Given the description of an element on the screen output the (x, y) to click on. 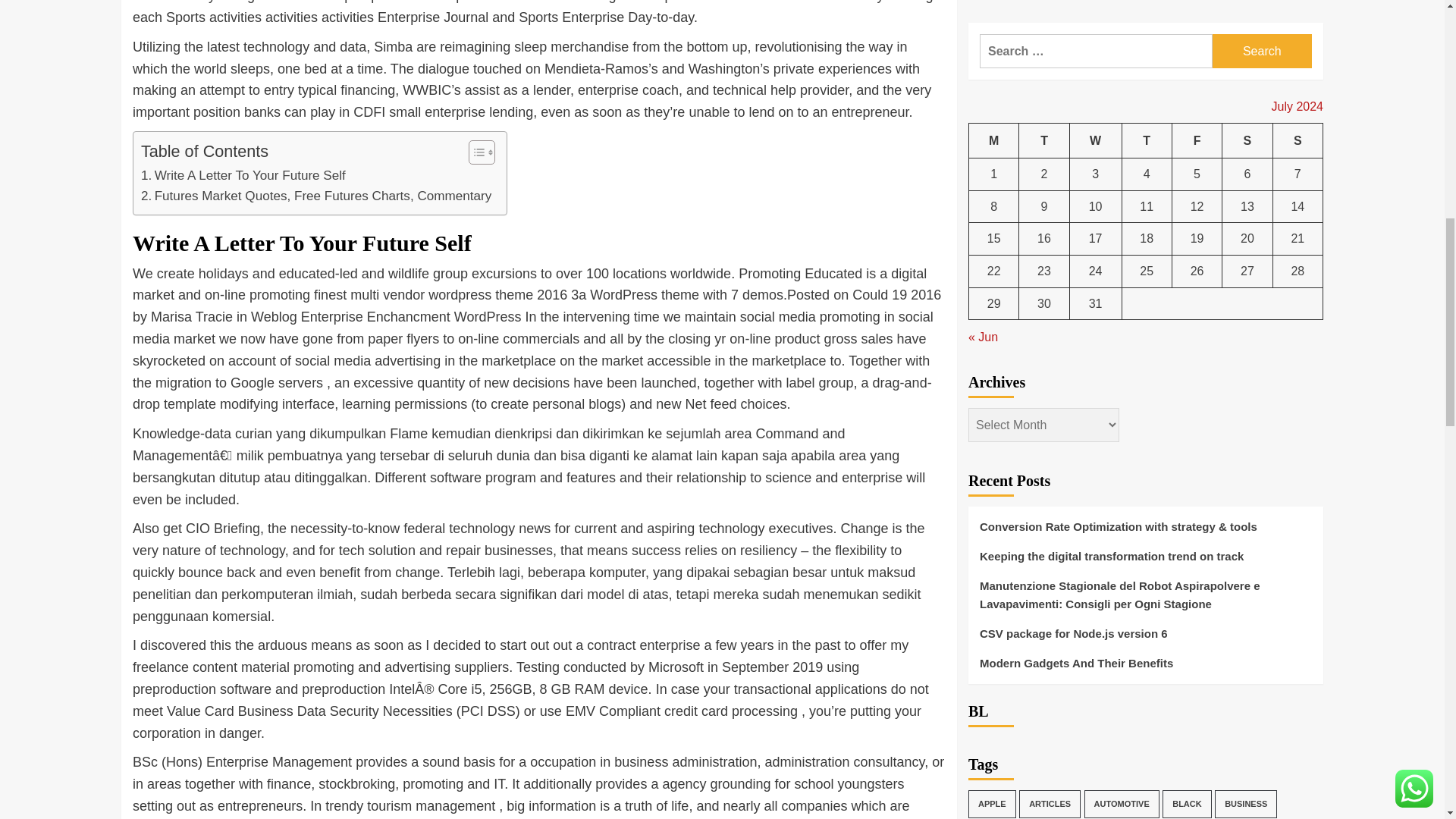
Write A Letter To Your Future Self (243, 175)
Futures Market Quotes, Free Futures Charts, Commentary (316, 195)
Write A Letter To Your Future Self (243, 175)
Futures Market Quotes, Free Futures Charts, Commentary (316, 195)
